Given the description of an element on the screen output the (x, y) to click on. 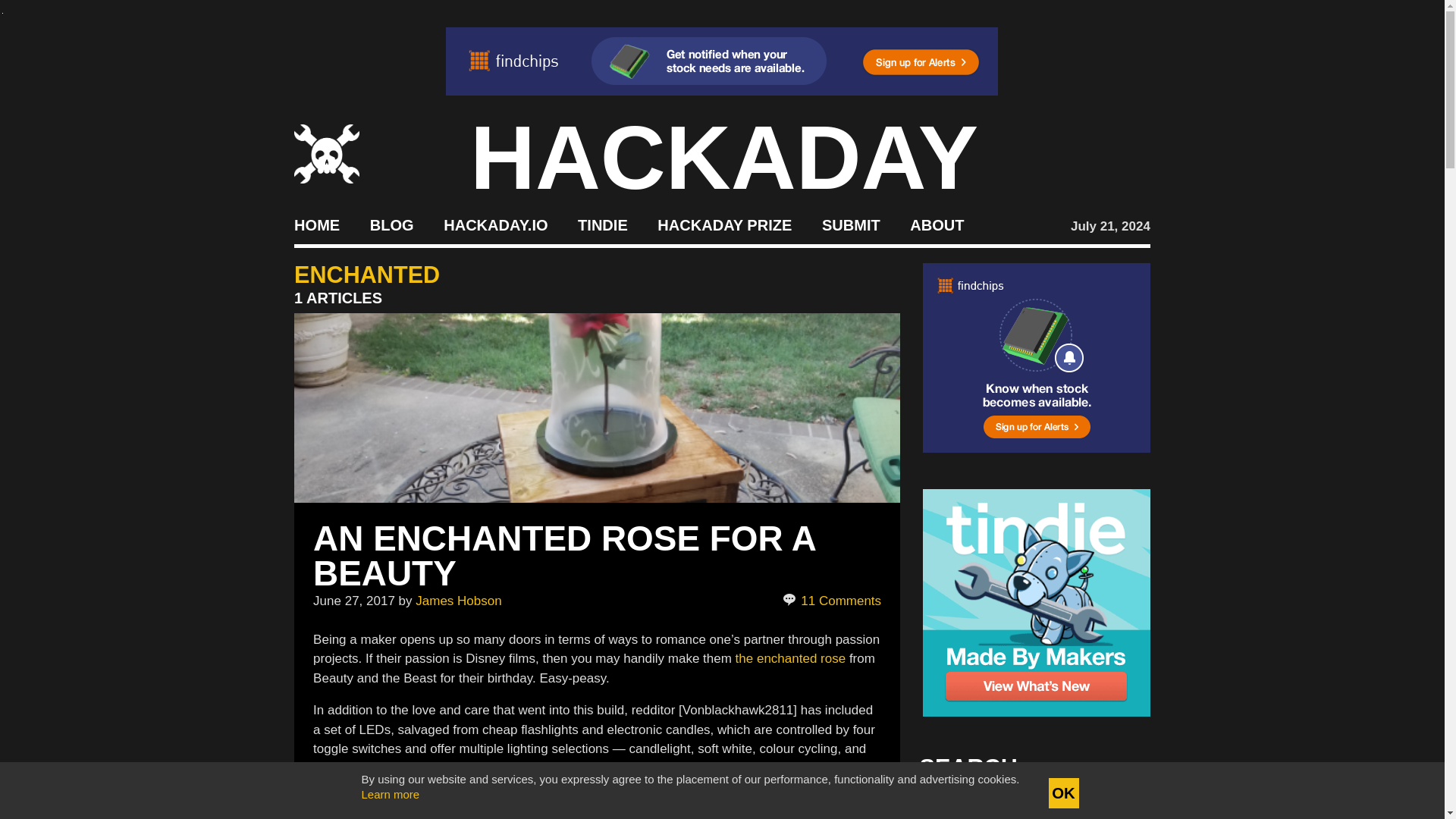
Search (1115, 808)
BLOG (391, 224)
HOME (316, 224)
Build Something that Matters (725, 224)
HACKADAY (724, 157)
Search (1115, 808)
ABOUT (936, 224)
HACKADAY PRIZE (725, 224)
Posts by James Hobson (457, 599)
AN ENCHANTED ROSE FOR A BEAUTY (564, 555)
June 27, 2017 - 10:00 pm (353, 599)
11 Comments (832, 600)
the enchanted rose (790, 658)
June 27, 2017 (353, 599)
TINDIE (602, 224)
